Given the description of an element on the screen output the (x, y) to click on. 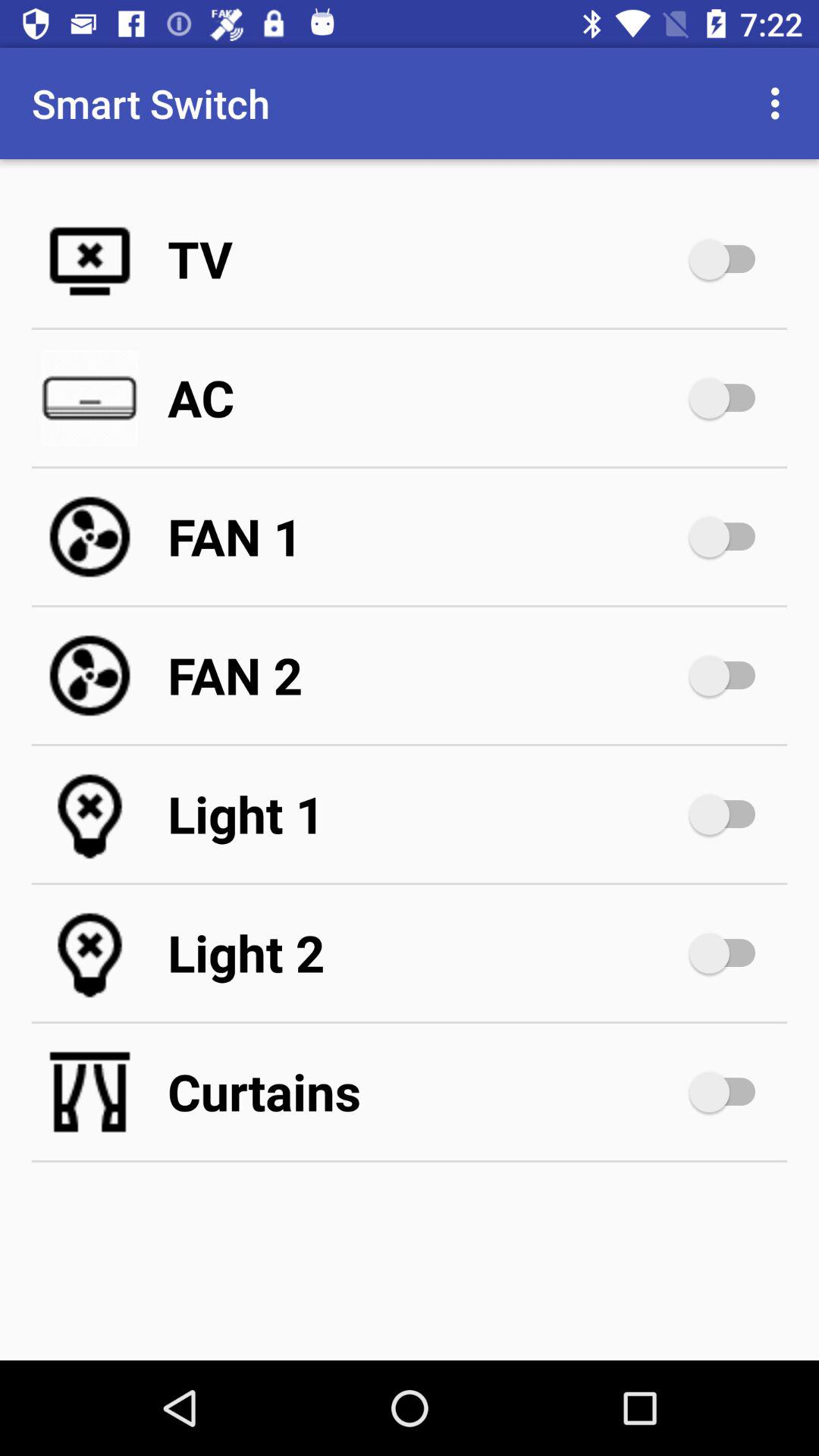
click the item above the fan 2 (424, 536)
